Given the description of an element on the screen output the (x, y) to click on. 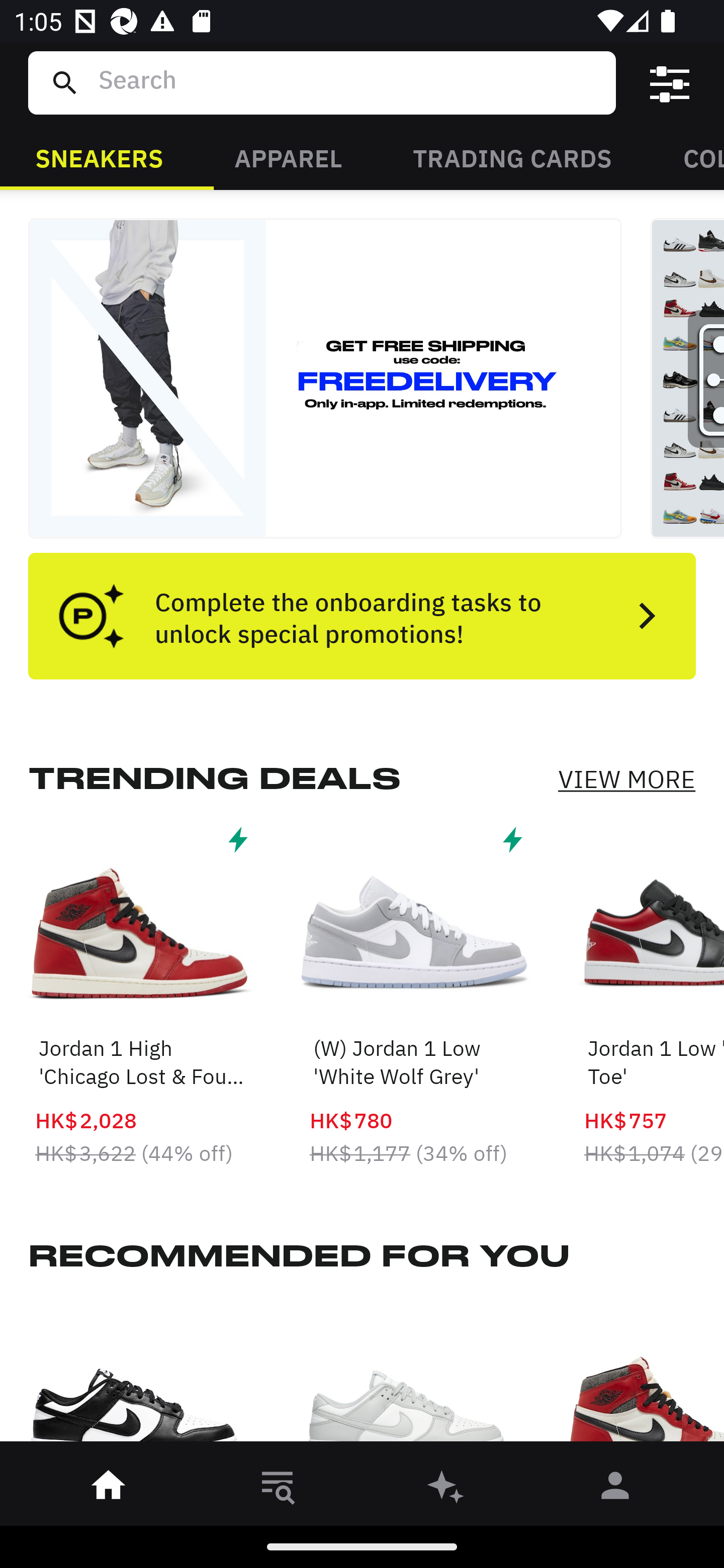
Search (349, 82)
 (669, 82)
SNEAKERS (99, 156)
APPAREL (287, 156)
TRADING CARDS (512, 156)
VIEW MORE (626, 779)
󰋜 (108, 1488)
󱎸 (277, 1488)
󰫢 (446, 1488)
󰀄 (615, 1488)
